Given the description of an element on the screen output the (x, y) to click on. 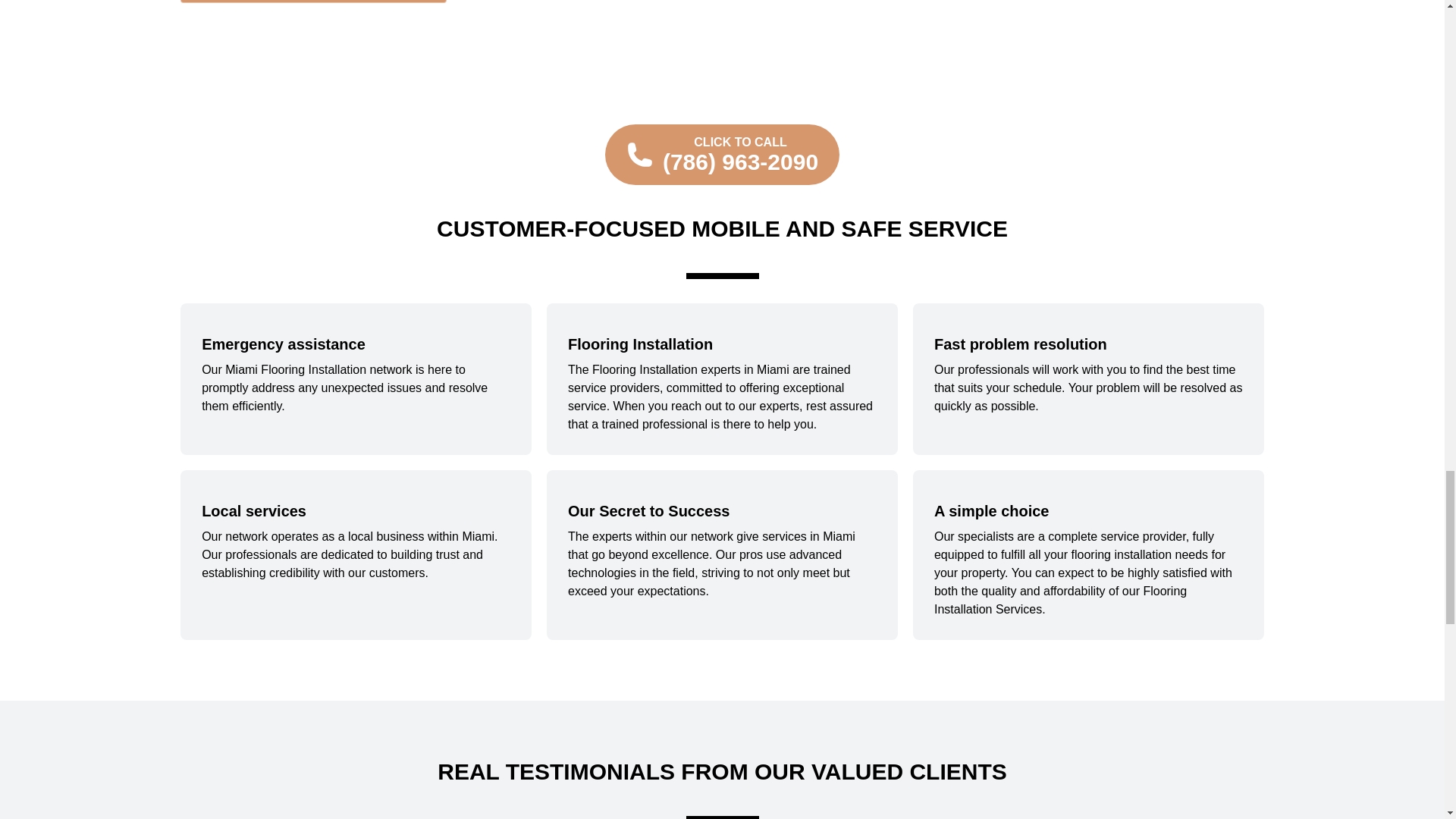
Click to call us (722, 154)
